Given the description of an element on the screen output the (x, y) to click on. 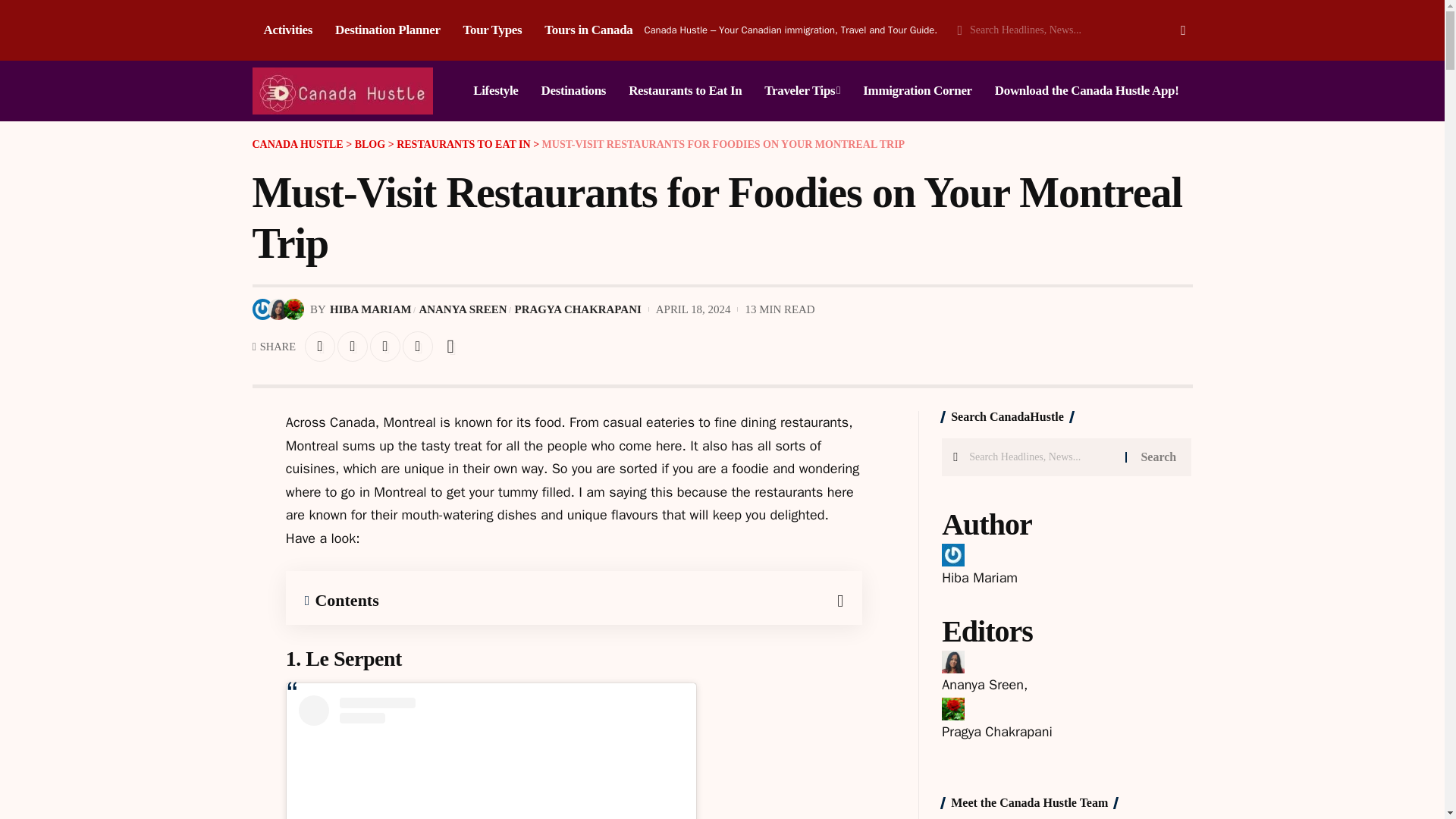
Destinations (573, 90)
HIBA MARIAM (370, 309)
Go to Blog. (370, 143)
PRAGYA CHAKRAPANI (578, 309)
Activities (287, 30)
Restaurants to Eat In (684, 90)
Search (1168, 30)
Download the Canada Hustle App! (1087, 90)
Tours in Canada (587, 30)
Lifestyle (495, 90)
Ananya Sreen (982, 684)
Tour Types (492, 30)
BLOG (370, 143)
Destination Planner (387, 30)
Immigration Corner (917, 90)
